Given the description of an element on the screen output the (x, y) to click on. 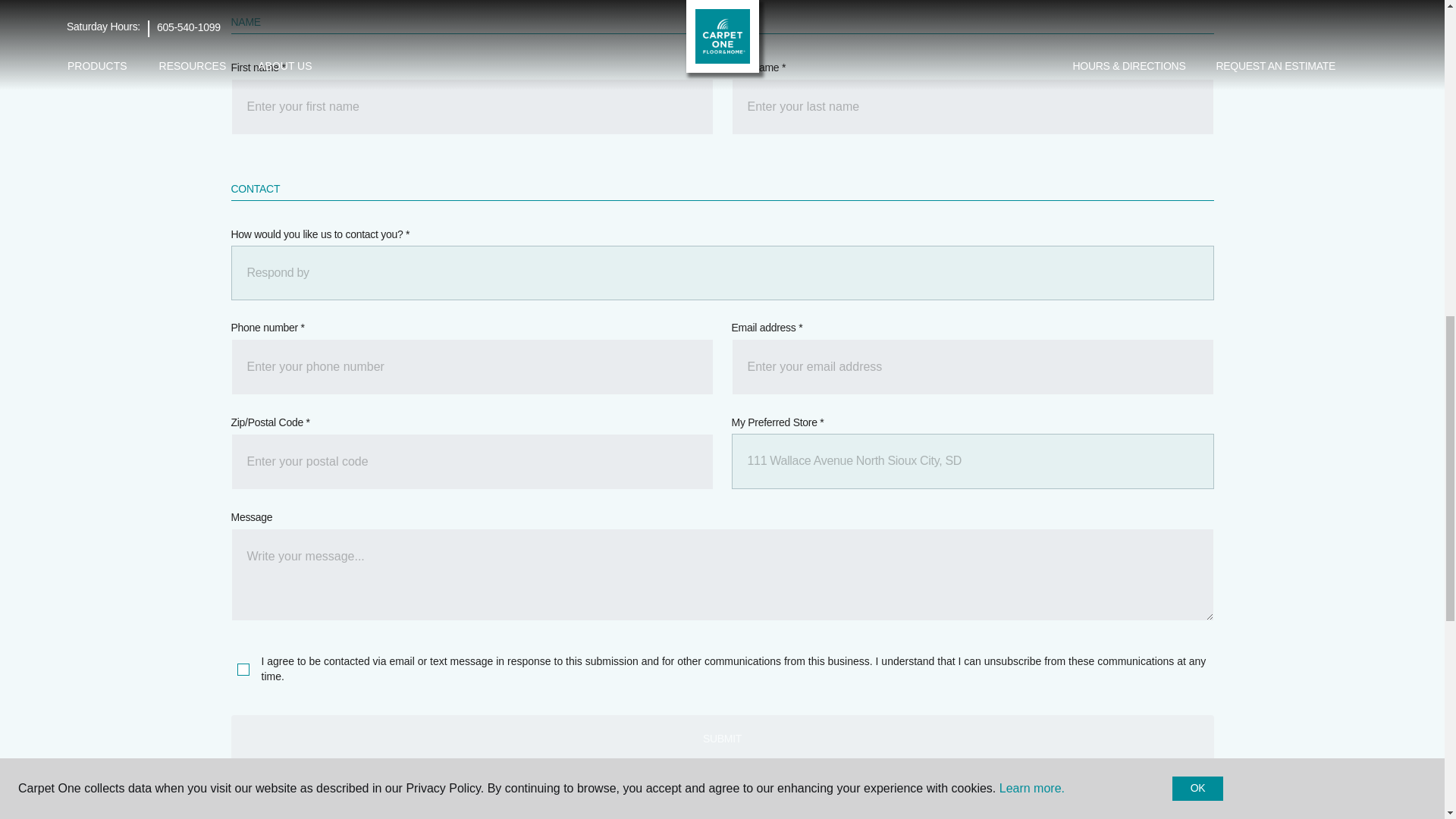
EmailAddress (971, 366)
PostalCode (471, 461)
MyMessage (721, 574)
LastName (971, 106)
CleanHomePhone (471, 366)
FirstName (471, 106)
